Given the description of an element on the screen output the (x, y) to click on. 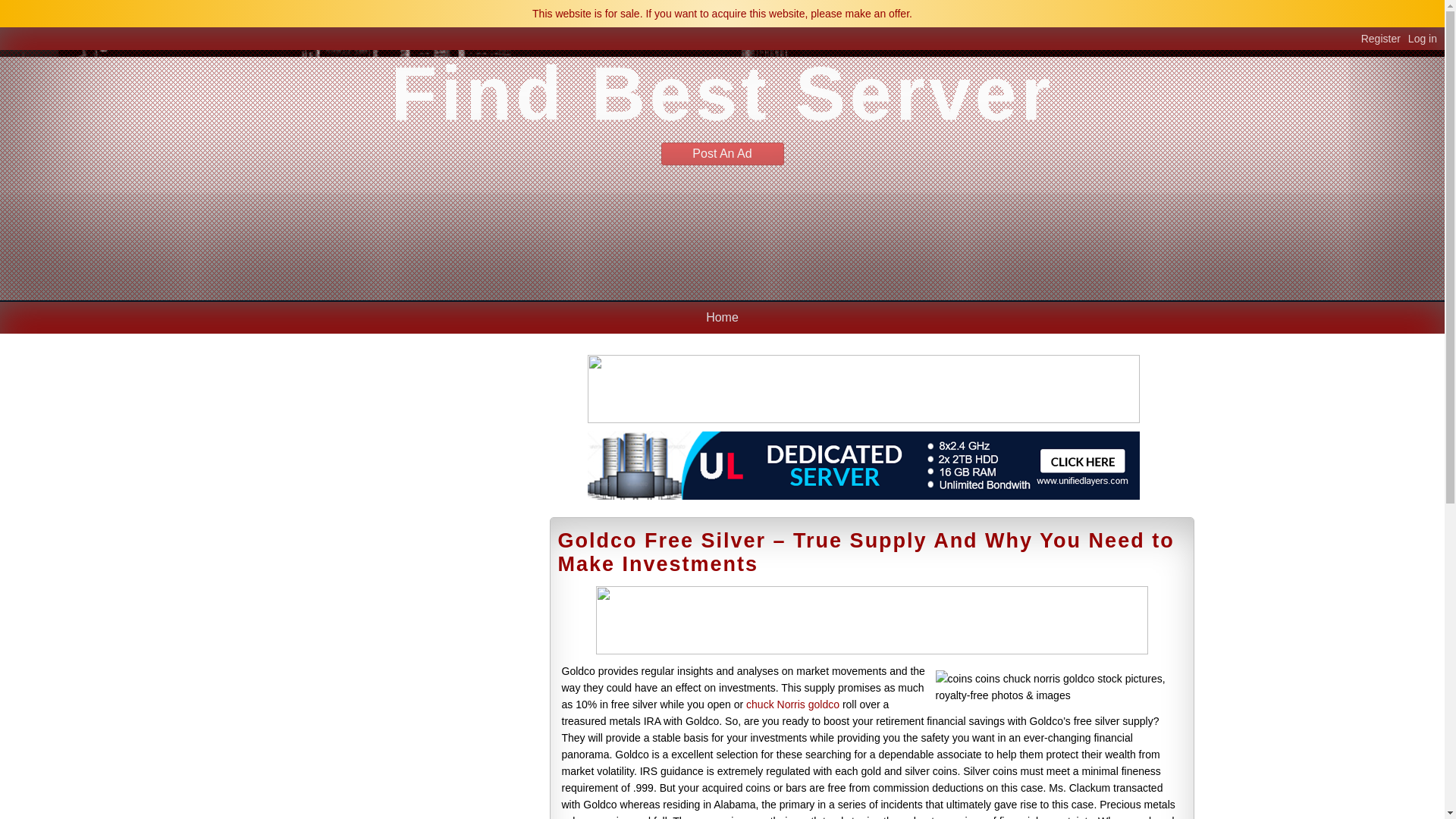
chuck Norris goldco (792, 704)
Register (1384, 38)
Post An Ad (722, 153)
Home (721, 317)
